Given the description of an element on the screen output the (x, y) to click on. 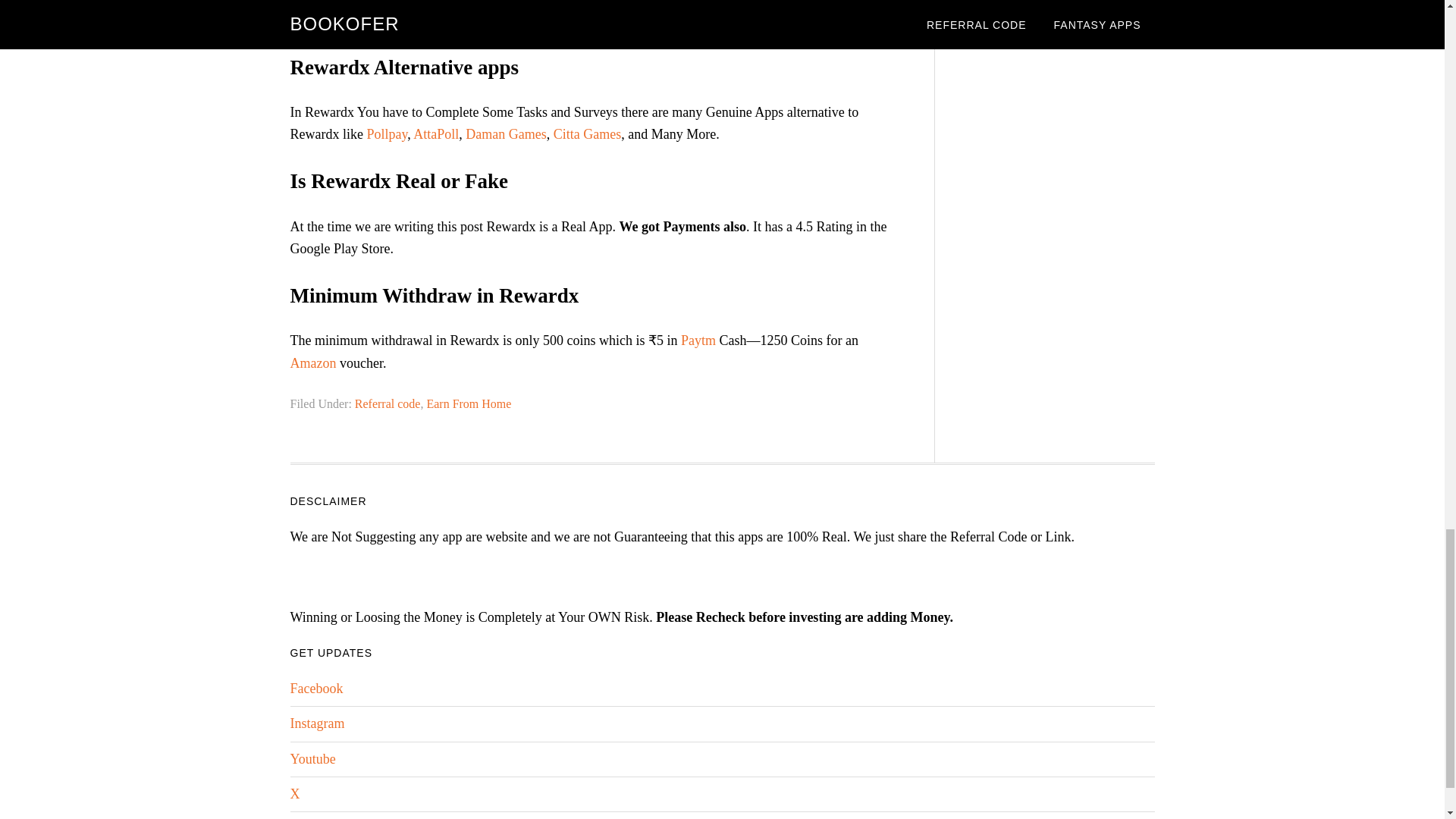
Citta Games (587, 133)
Paytm (698, 340)
Pollpay (386, 133)
AttaPoll (435, 133)
Earn From Home (468, 403)
Amazon (312, 363)
Daman Games (505, 133)
Referral code (387, 403)
